Given the description of an element on the screen output the (x, y) to click on. 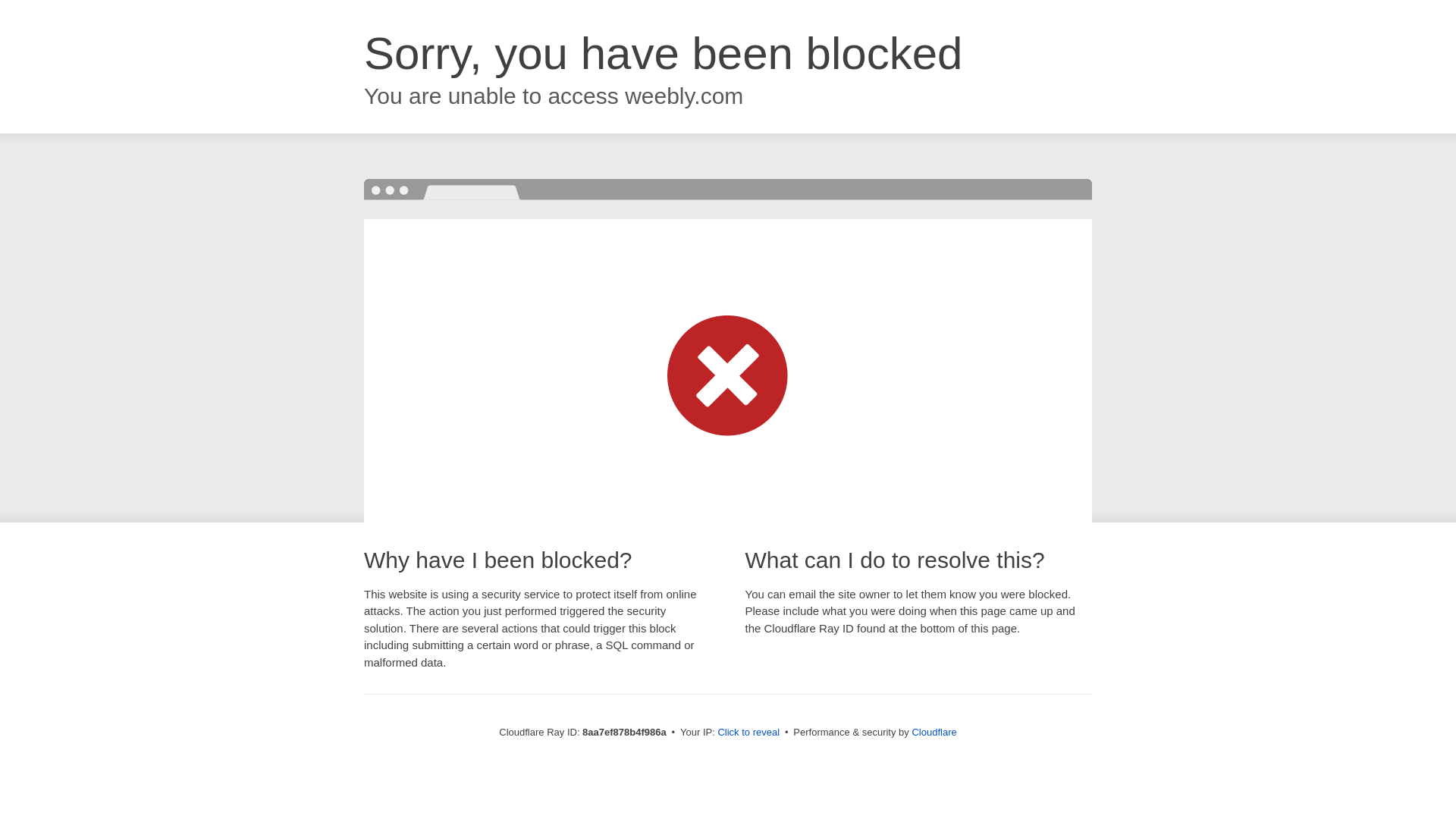
Cloudflare (933, 731)
Click to reveal (747, 732)
